Given the description of an element on the screen output the (x, y) to click on. 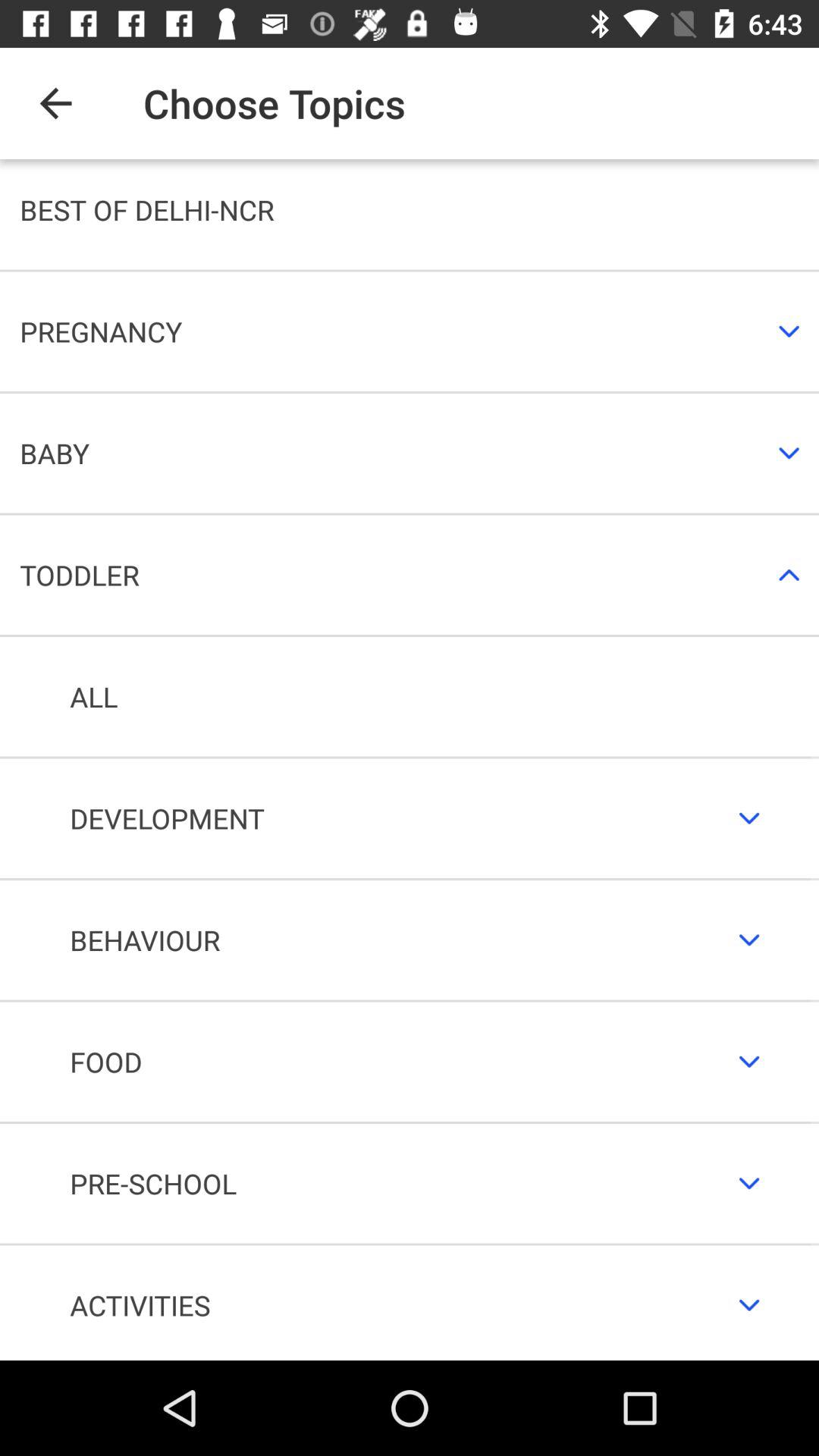
choose icon to the left of the choose topics item (55, 103)
